Given the description of an element on the screen output the (x, y) to click on. 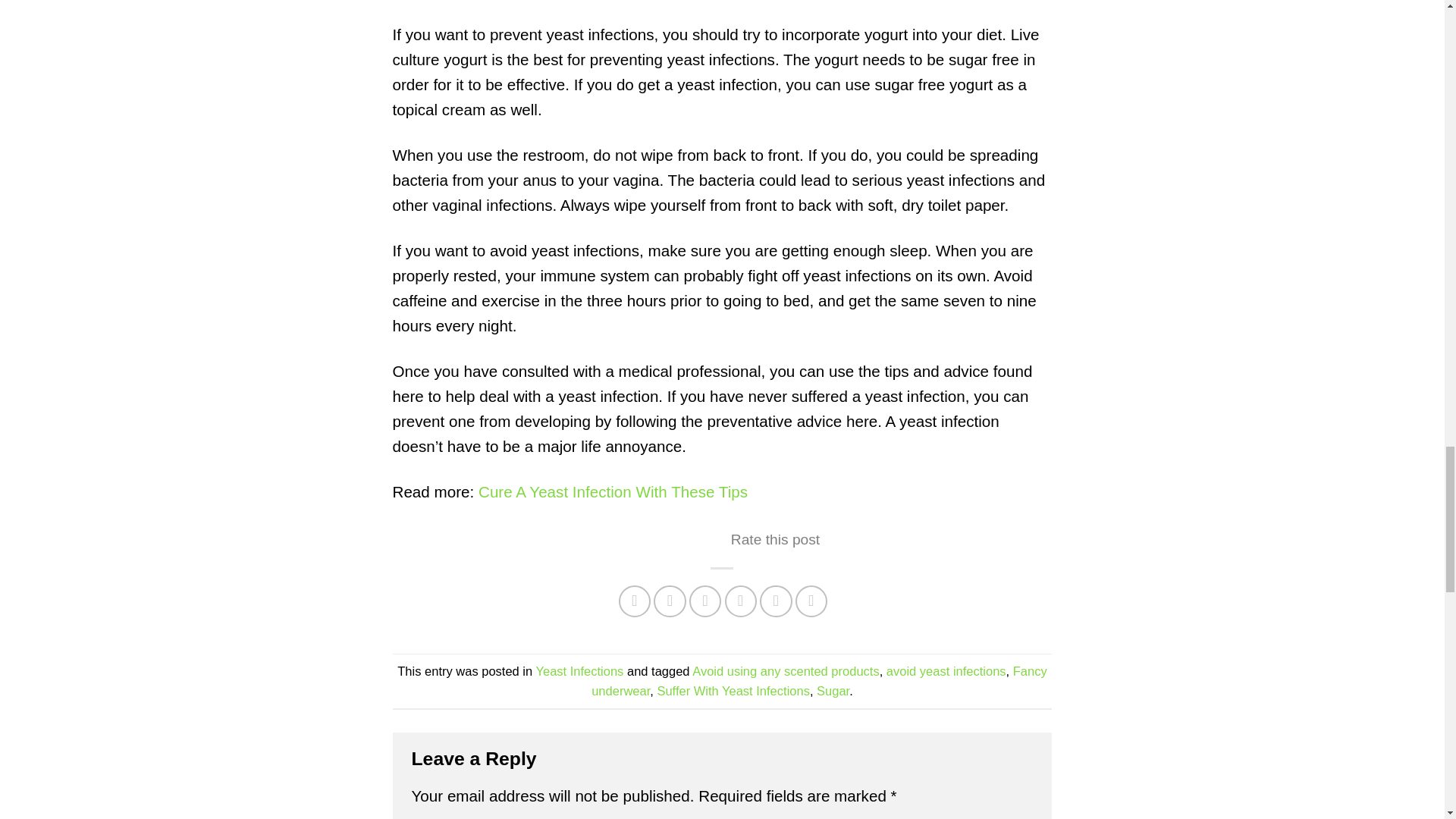
Pin on Pinterest (705, 601)
Avoid using any scented products (786, 671)
Suffer With Yeast Infections (732, 690)
Yeast Infections (579, 671)
avoid yeast infections (946, 671)
Share on Twitter (669, 601)
Sugar (832, 690)
Cure A Yeast Infection With These Tips (613, 491)
Share on Facebook (634, 601)
Fancy underwear (818, 680)
